Given the description of an element on the screen output the (x, y) to click on. 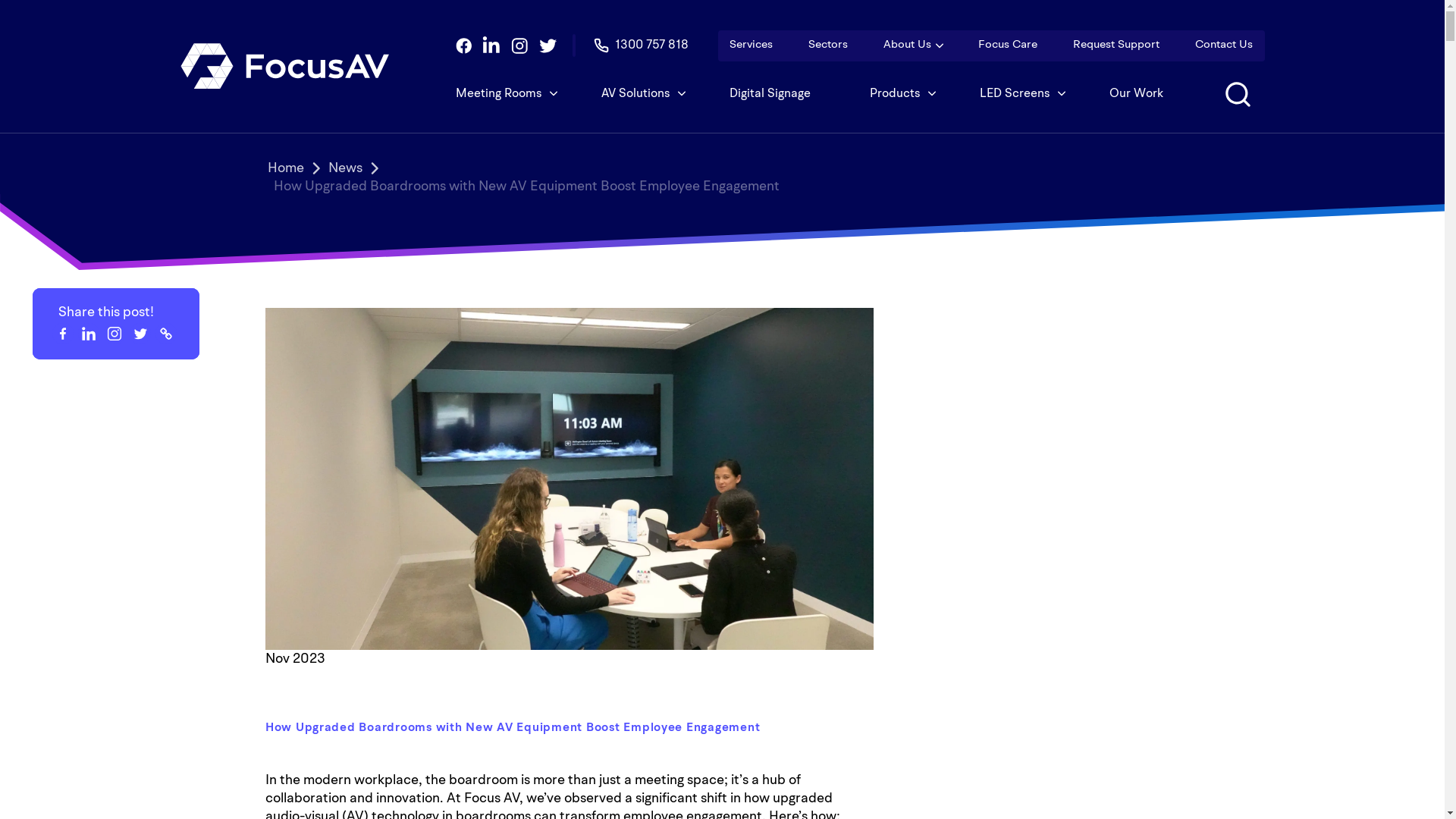
Focus Care Element type: text (1007, 45)
Twitter Element type: hover (139, 333)
1300 757 818 Element type: text (640, 45)
Instagram Element type: hover (113, 333)
Our Work Element type: text (1136, 93)
Home Element type: text (284, 168)
Sectors Element type: text (828, 45)
About Us Element type: text (907, 45)
Copy Link Element type: hover (164, 333)
Products Element type: text (894, 93)
Contact Us Element type: text (1223, 45)
Facebook Element type: hover (61, 333)
Digital Signage Element type: text (769, 93)
Meeting Rooms Element type: text (504, 93)
Services Element type: text (750, 45)
Request Support Element type: text (1115, 45)
News Element type: text (344, 168)
LED Screens Element type: text (1014, 93)
AV Solutions Element type: text (635, 93)
Linkedin Element type: hover (87, 333)
